Given the description of an element on the screen output the (x, y) to click on. 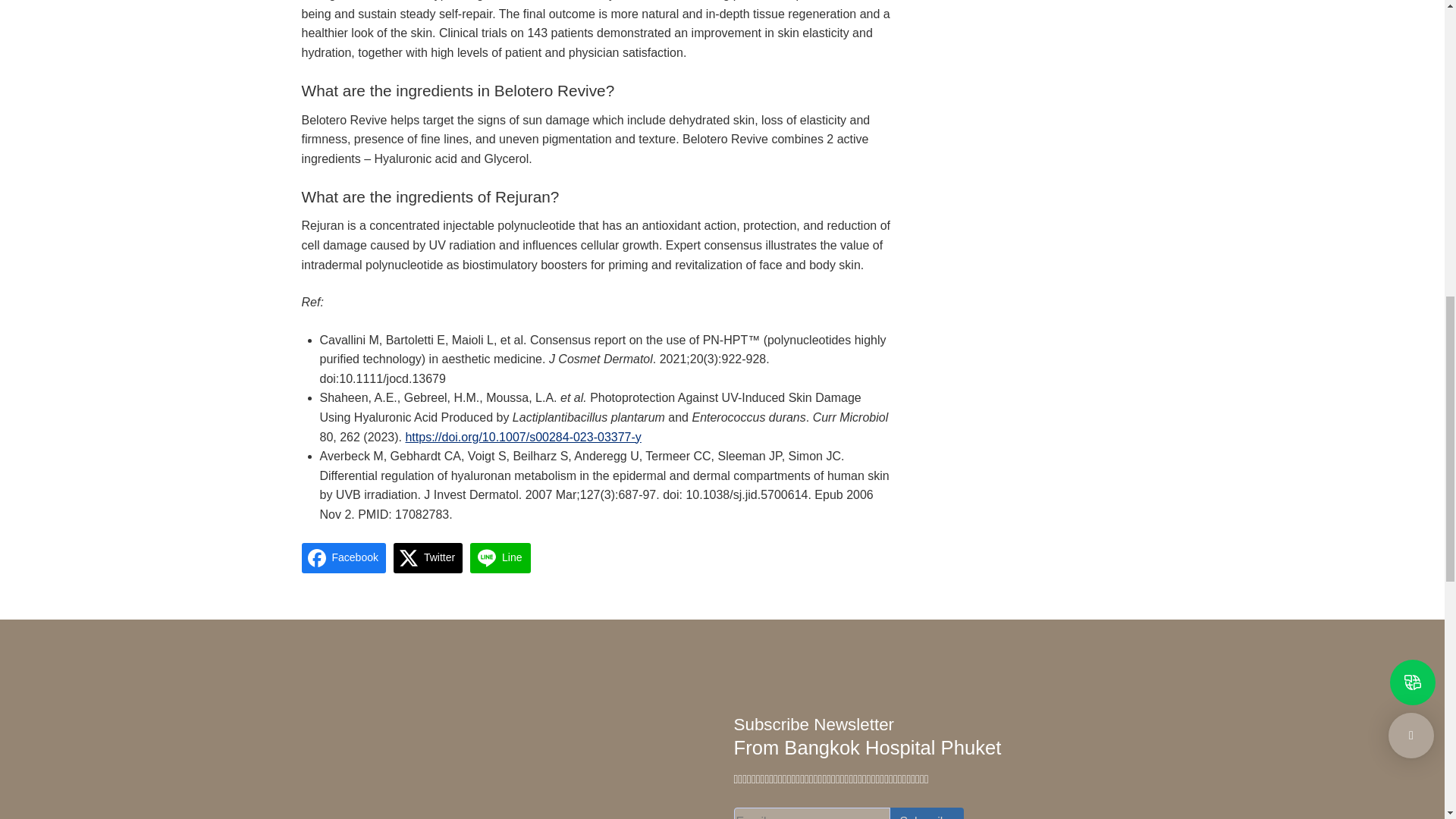
Subscribe (926, 813)
